Given the description of an element on the screen output the (x, y) to click on. 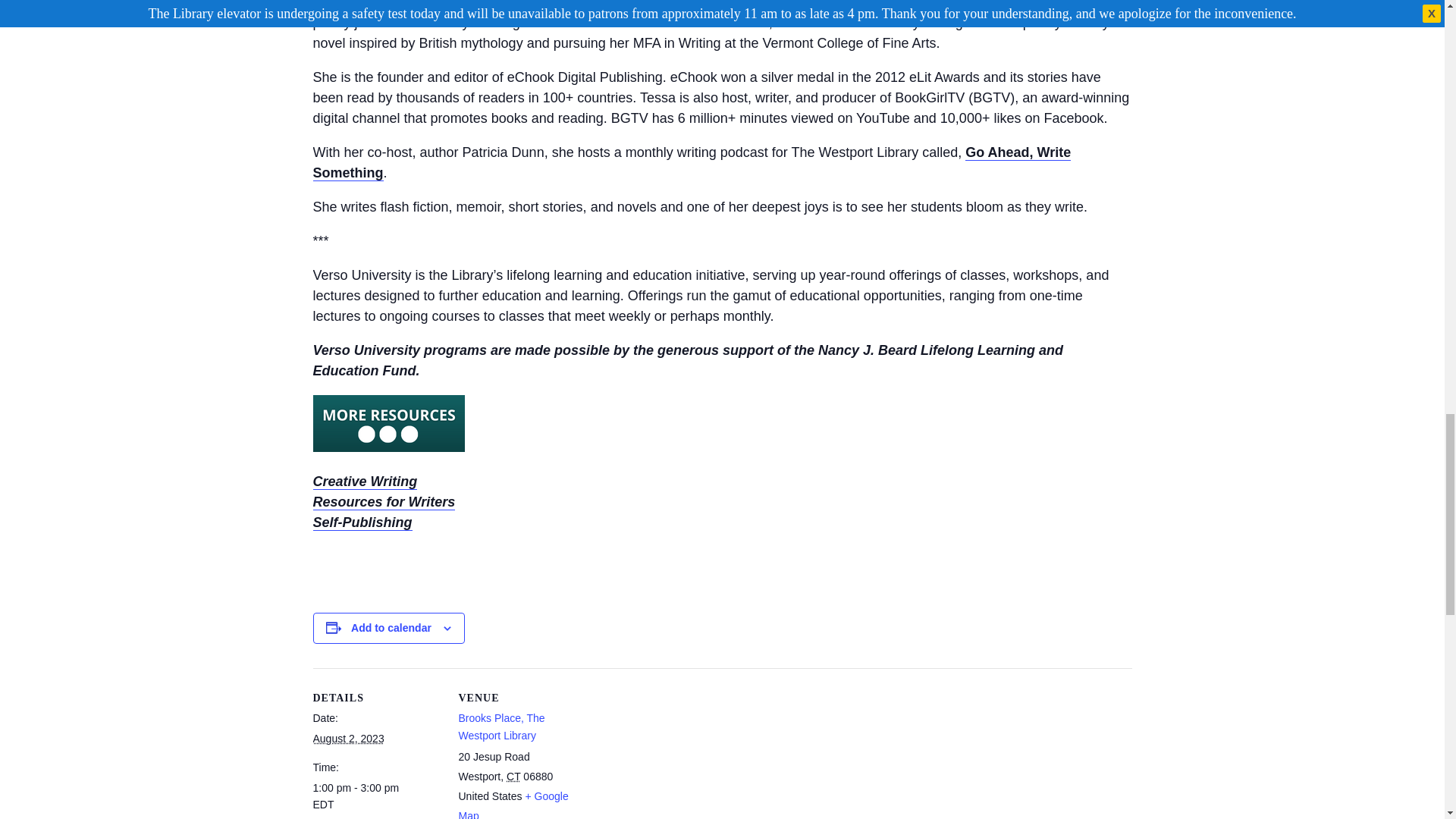
2023-08-02 (376, 796)
Click to view a Google Map (512, 804)
Connecticut (512, 776)
2023-08-02 (348, 738)
